Given the description of an element on the screen output the (x, y) to click on. 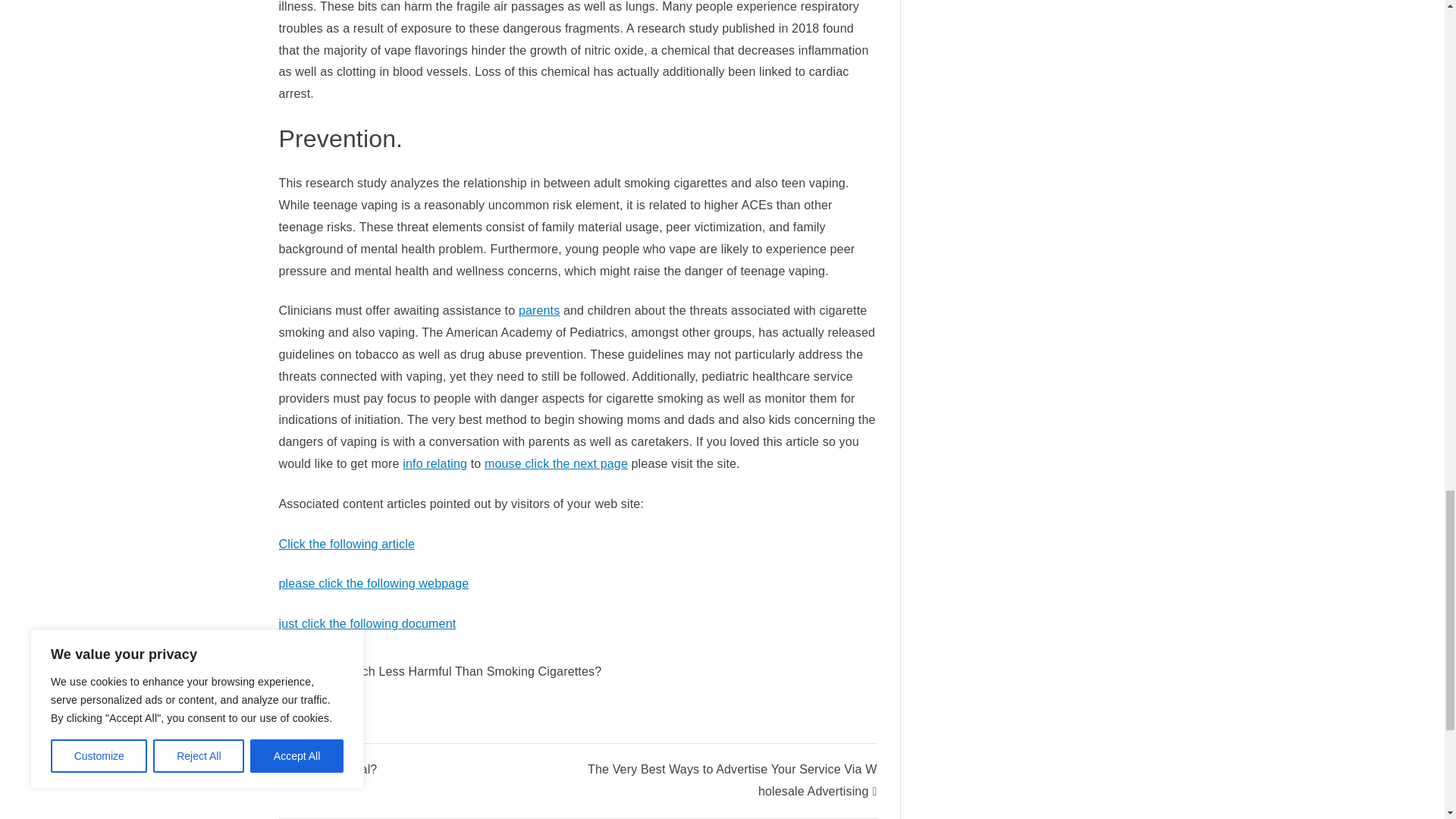
info relating (435, 463)
Click the following article (346, 543)
please click the following webpage (373, 583)
mouse click the next page (555, 463)
just click the following document (368, 623)
parents (539, 309)
What Is Appeal? (328, 768)
